Given the description of an element on the screen output the (x, y) to click on. 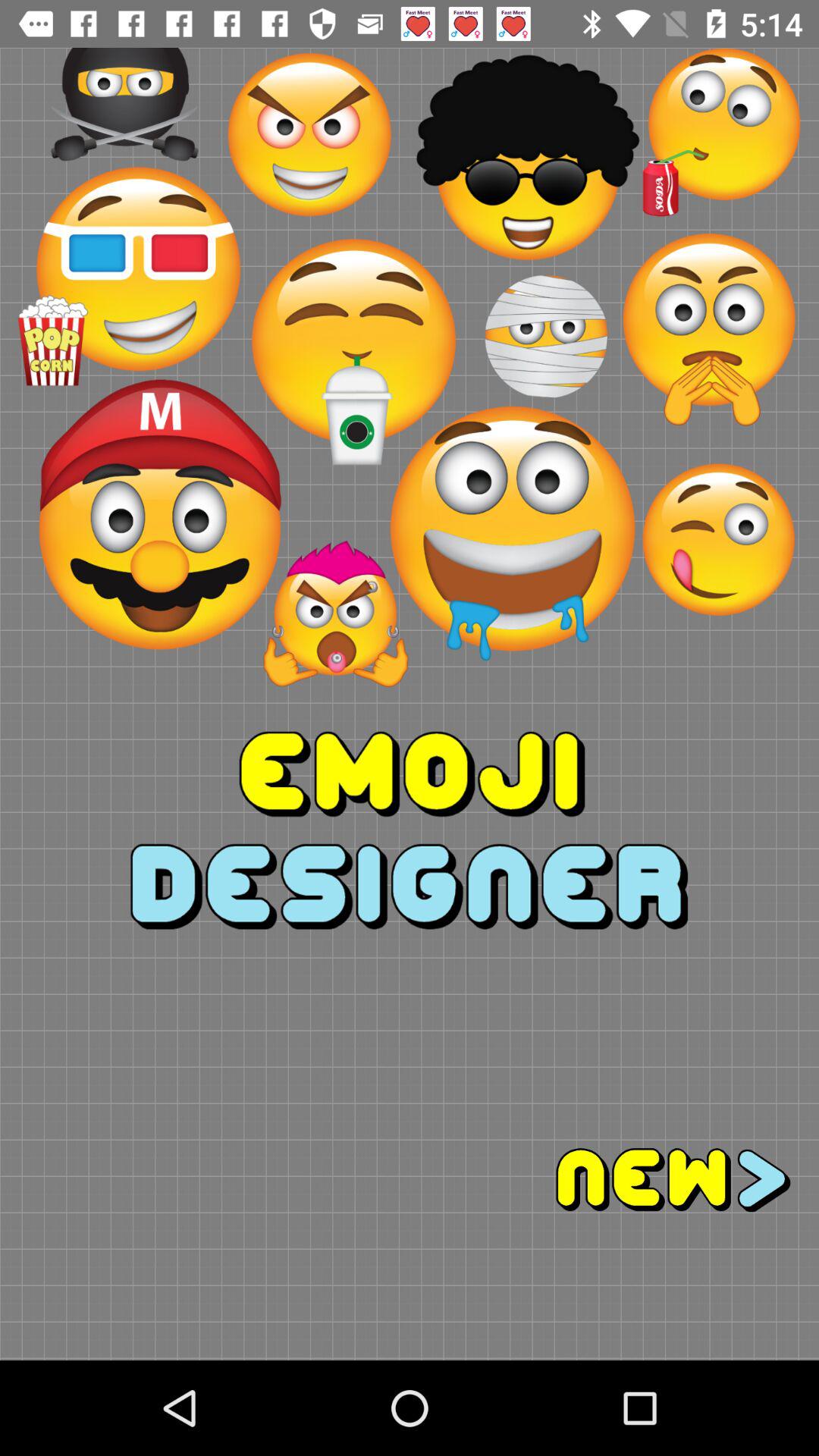
click to new (614, 1180)
